Given the description of an element on the screen output the (x, y) to click on. 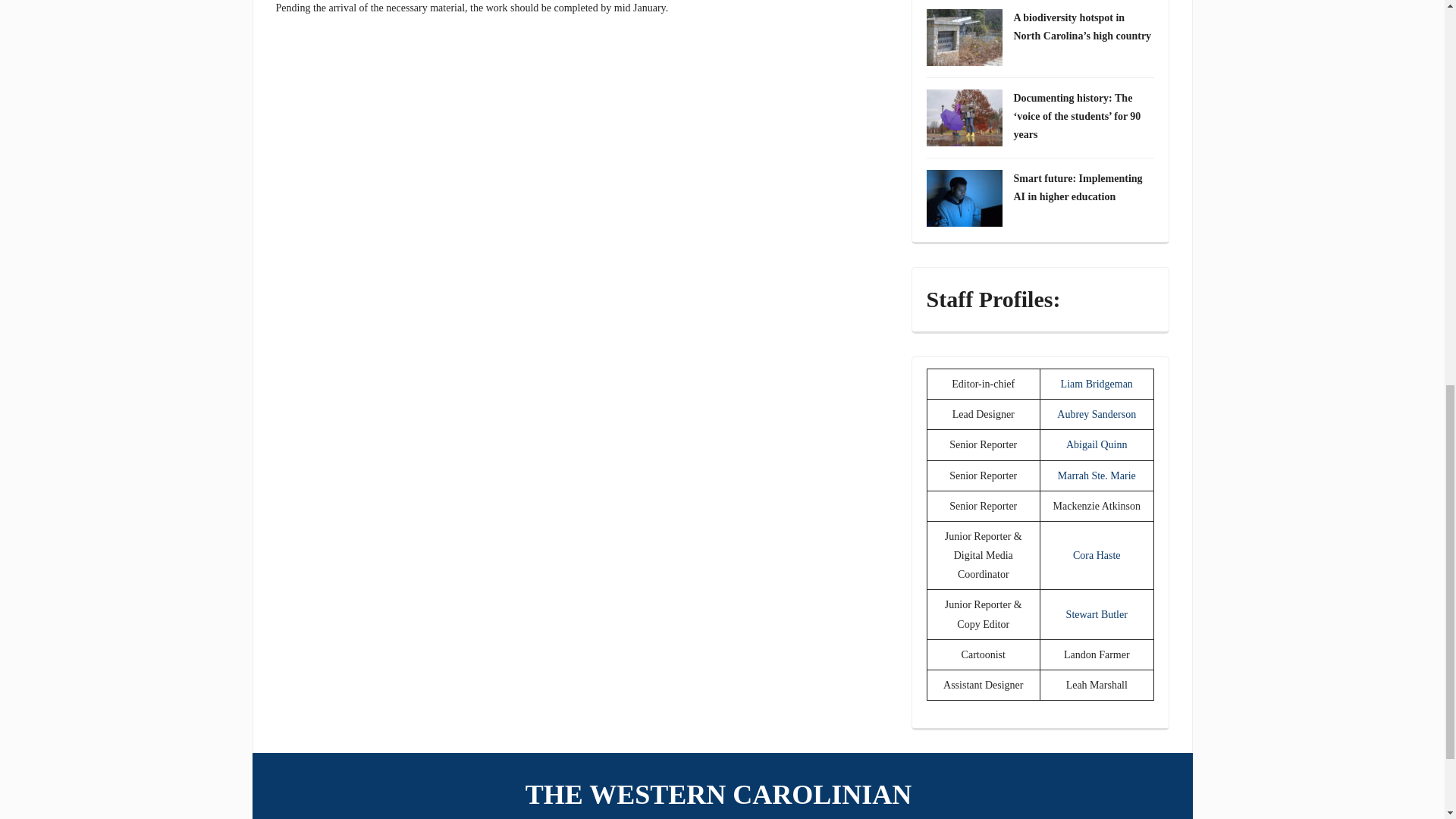
Western Carolina University's source for student-led news. (721, 794)
